Given the description of an element on the screen output the (x, y) to click on. 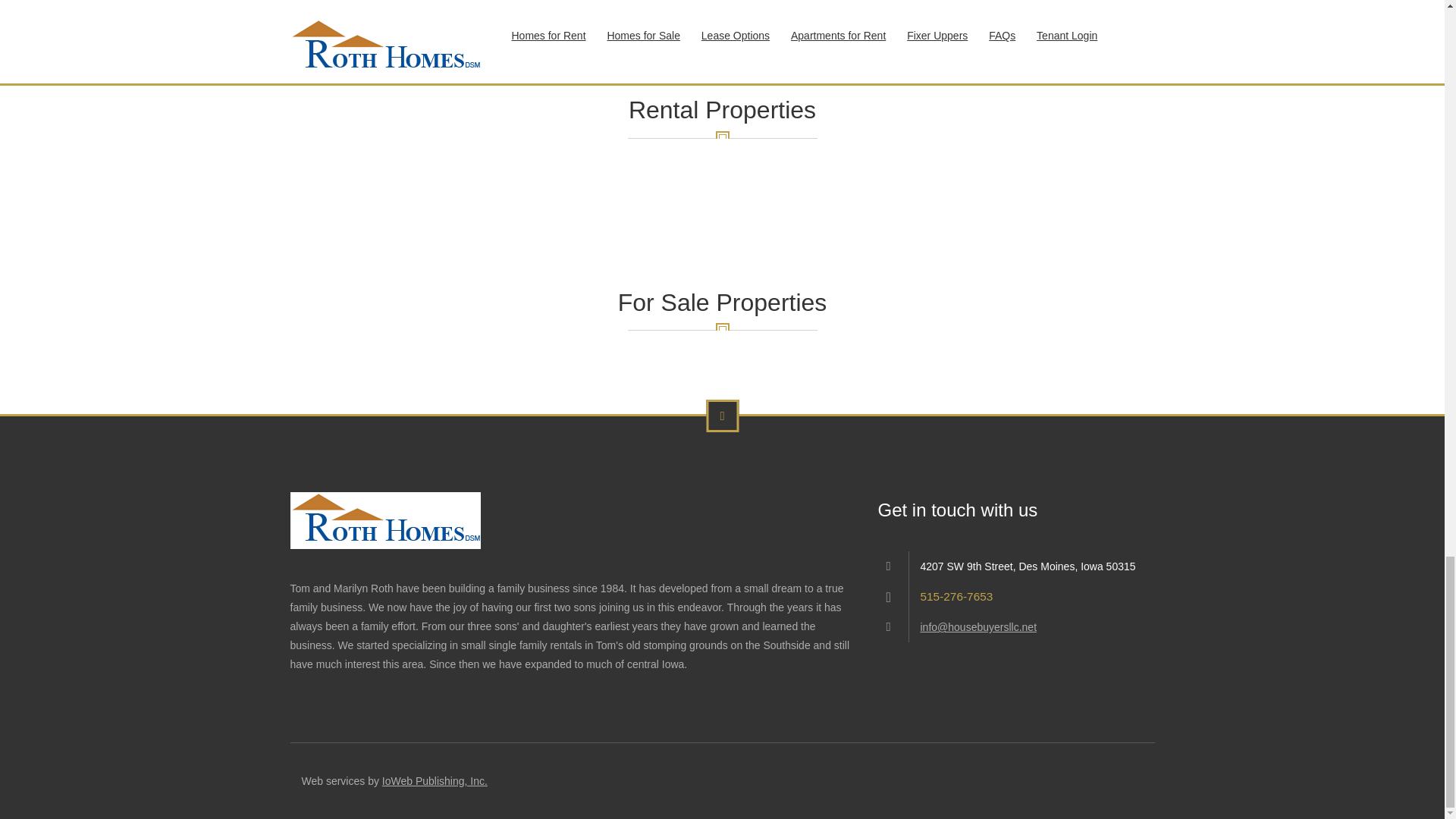
IoWeb Publishing, Inc. (434, 780)
